Given the description of an element on the screen output the (x, y) to click on. 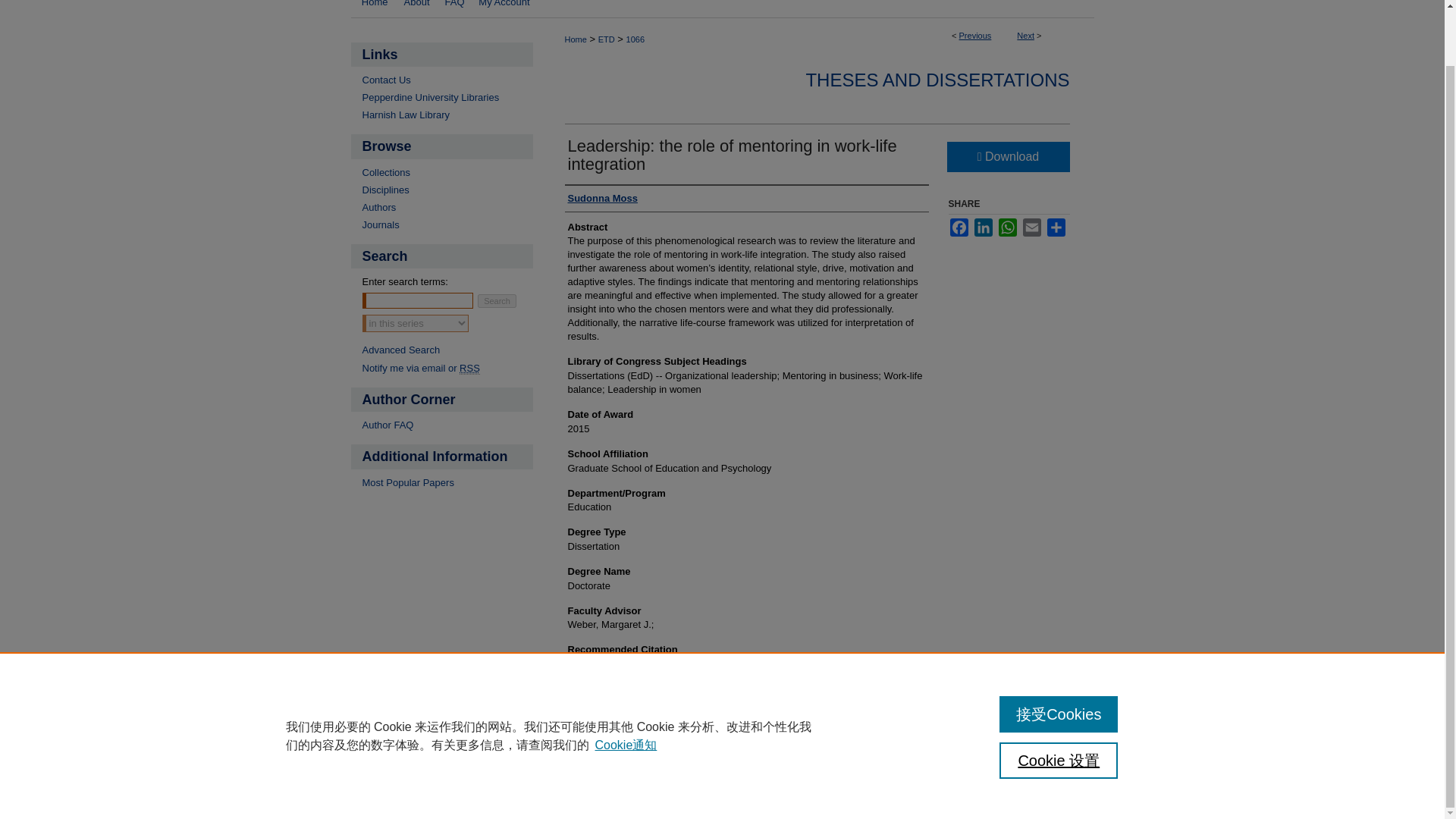
Home (373, 9)
LinkedIn (982, 227)
Email (1031, 227)
Facebook (958, 227)
FAQ (453, 9)
Sudonna Moss (602, 198)
THESES AND DISSERTATIONS (936, 79)
Contact Us (447, 79)
Browse by Disciplines (447, 189)
Next (1024, 35)
1066 (635, 39)
My Account (503, 9)
Leadership: the role of mentoring in work-life integration (731, 154)
About (417, 9)
Search (496, 300)
